Given the description of an element on the screen output the (x, y) to click on. 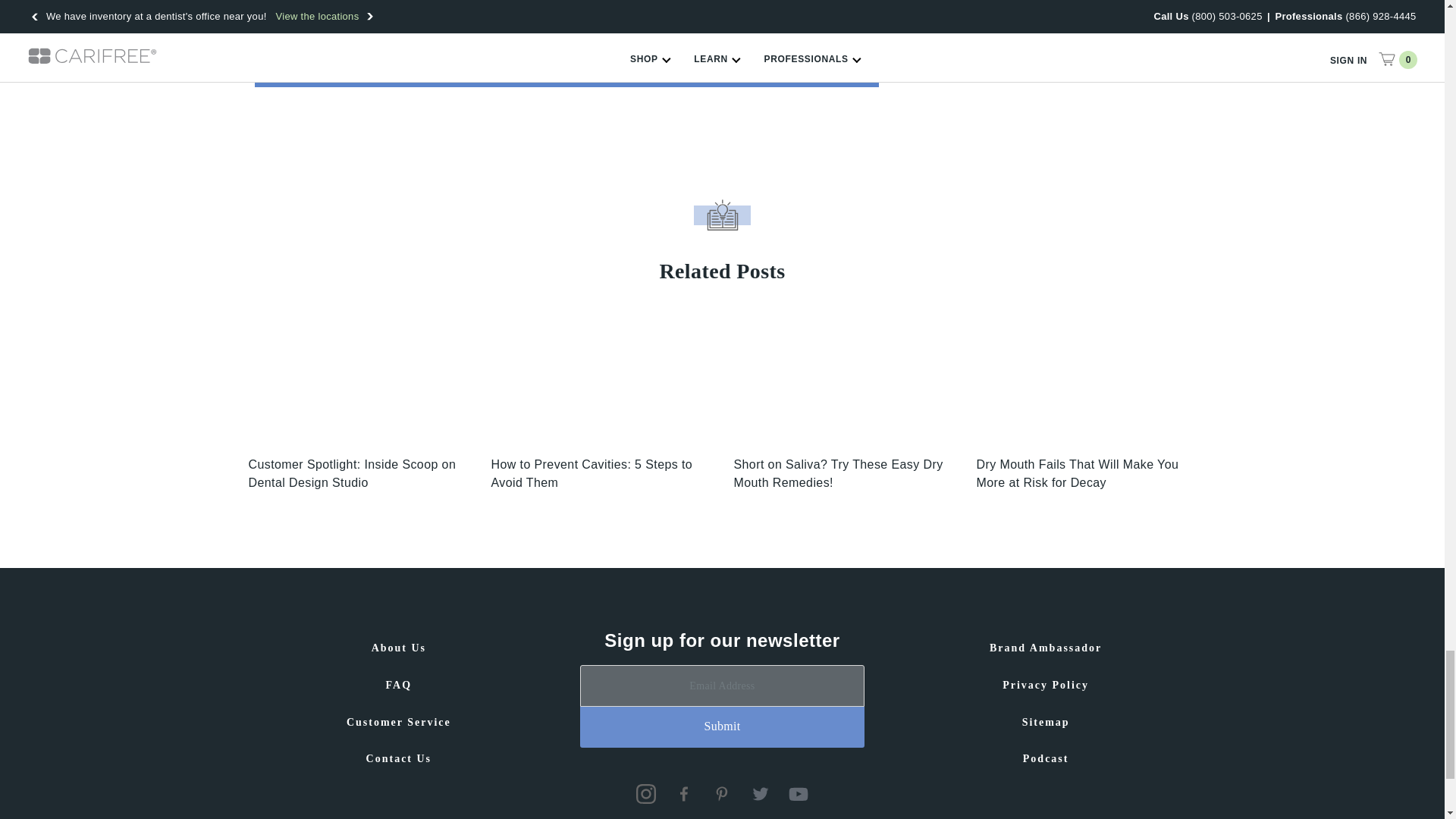
Submit (721, 726)
youtube (798, 793)
facebook (684, 793)
twitter (760, 793)
pinterest (721, 793)
mom-and-daughter-brushing-their-teeth. (601, 381)
Studio with lighting equipment (358, 381)
Short on Saliva? Try These Easy Dry Mouth Remedies! (843, 381)
Instagram (646, 793)
